Given the description of an element on the screen output the (x, y) to click on. 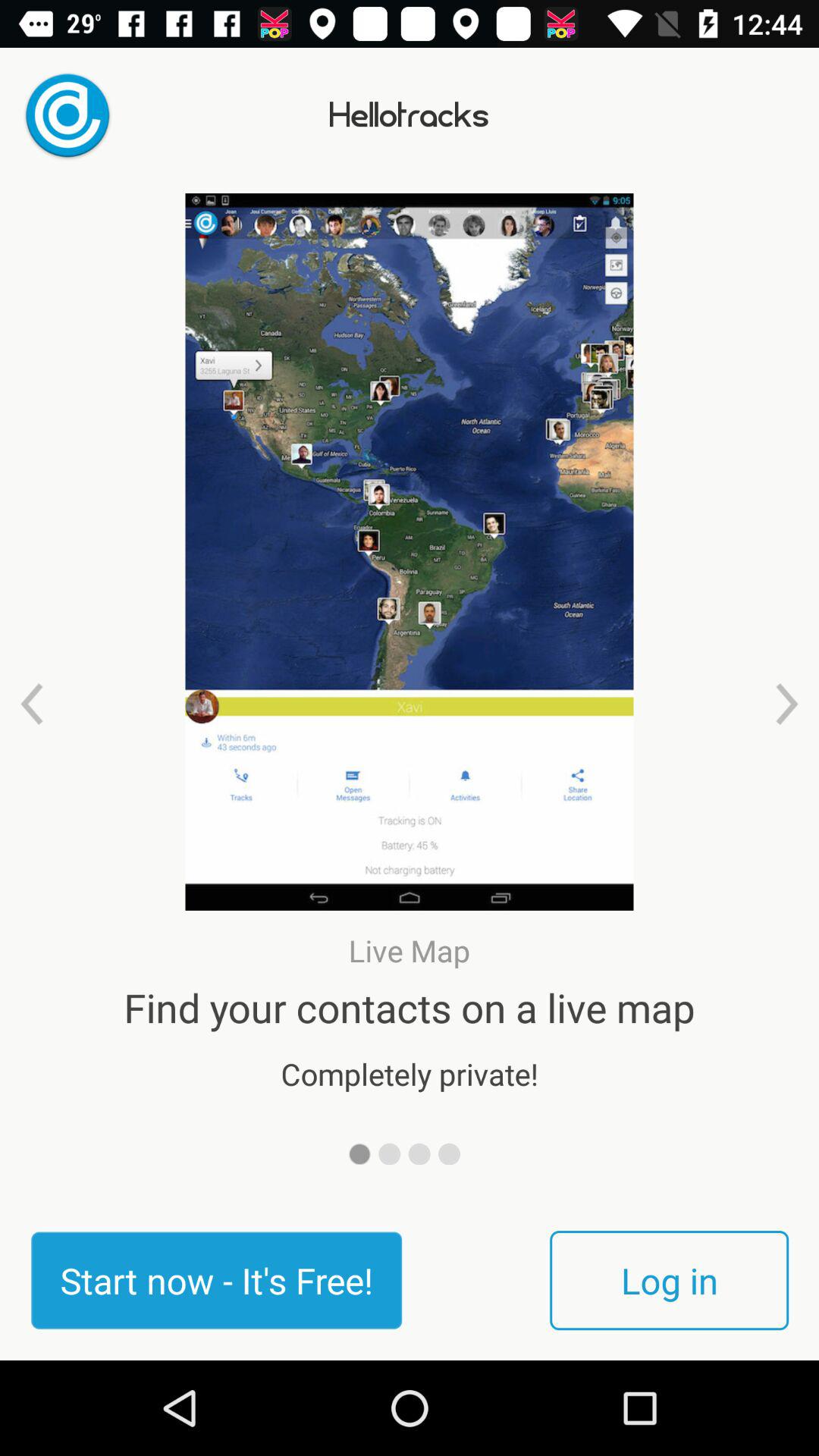
turn off item to the right of the start now it (668, 1280)
